Given the description of an element on the screen output the (x, y) to click on. 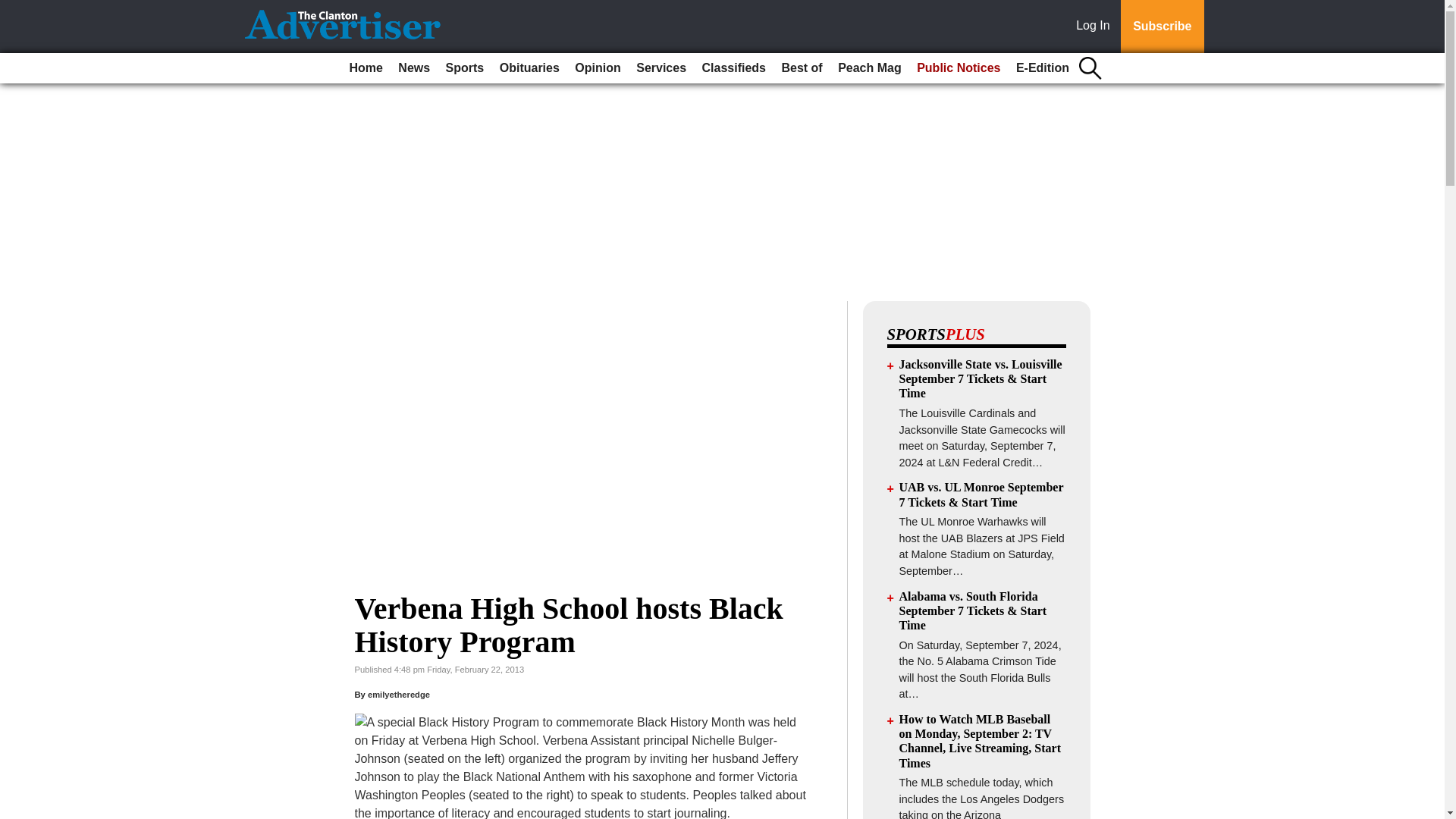
Go (13, 9)
Best of (801, 68)
Obituaries (529, 68)
Sports (464, 68)
Log In (1095, 26)
Classifieds (733, 68)
Opinion (597, 68)
E-Edition (1042, 68)
emilyetheredge (398, 694)
Peach Mag (869, 68)
